Given the description of an element on the screen output the (x, y) to click on. 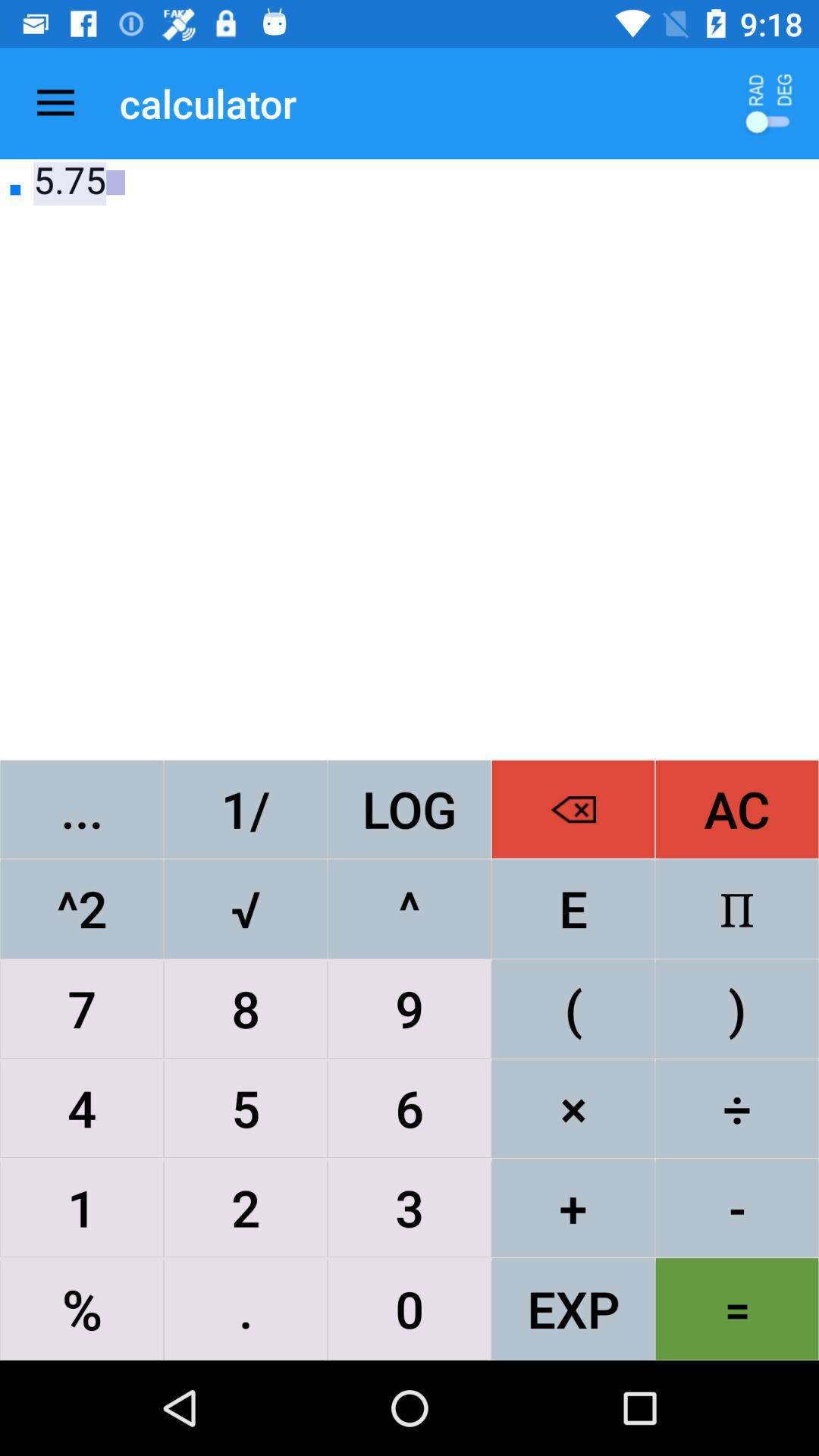
turn off the icon next to the ac item (572, 809)
